Given the description of an element on the screen output the (x, y) to click on. 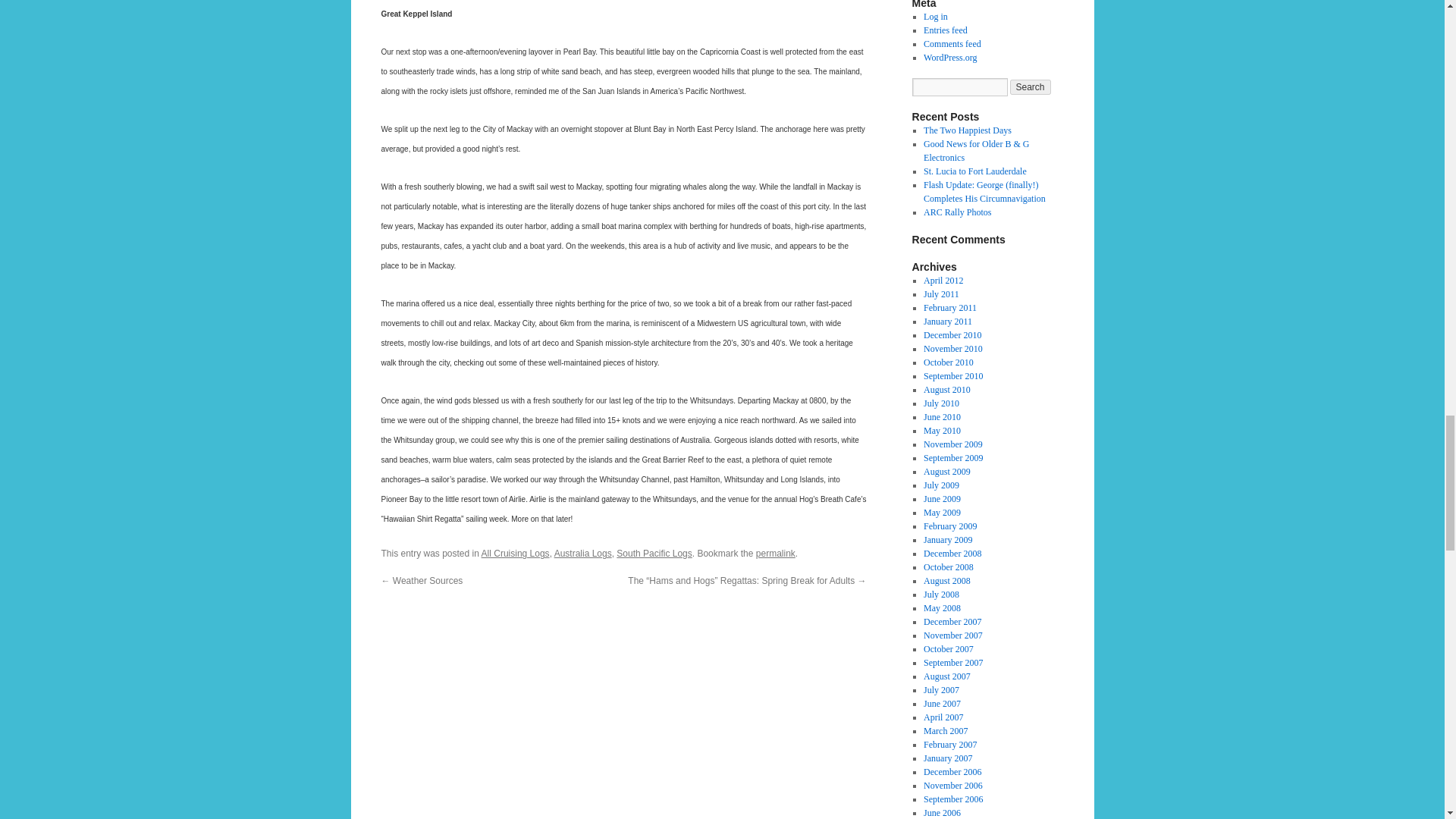
Permalink to Queensland: Brisbane to the Whitsunday Islands (774, 552)
South Pacific Logs (653, 552)
Australia Logs (582, 552)
Search (1030, 87)
permalink (774, 552)
All Cruising Logs (515, 552)
